Given the description of an element on the screen output the (x, y) to click on. 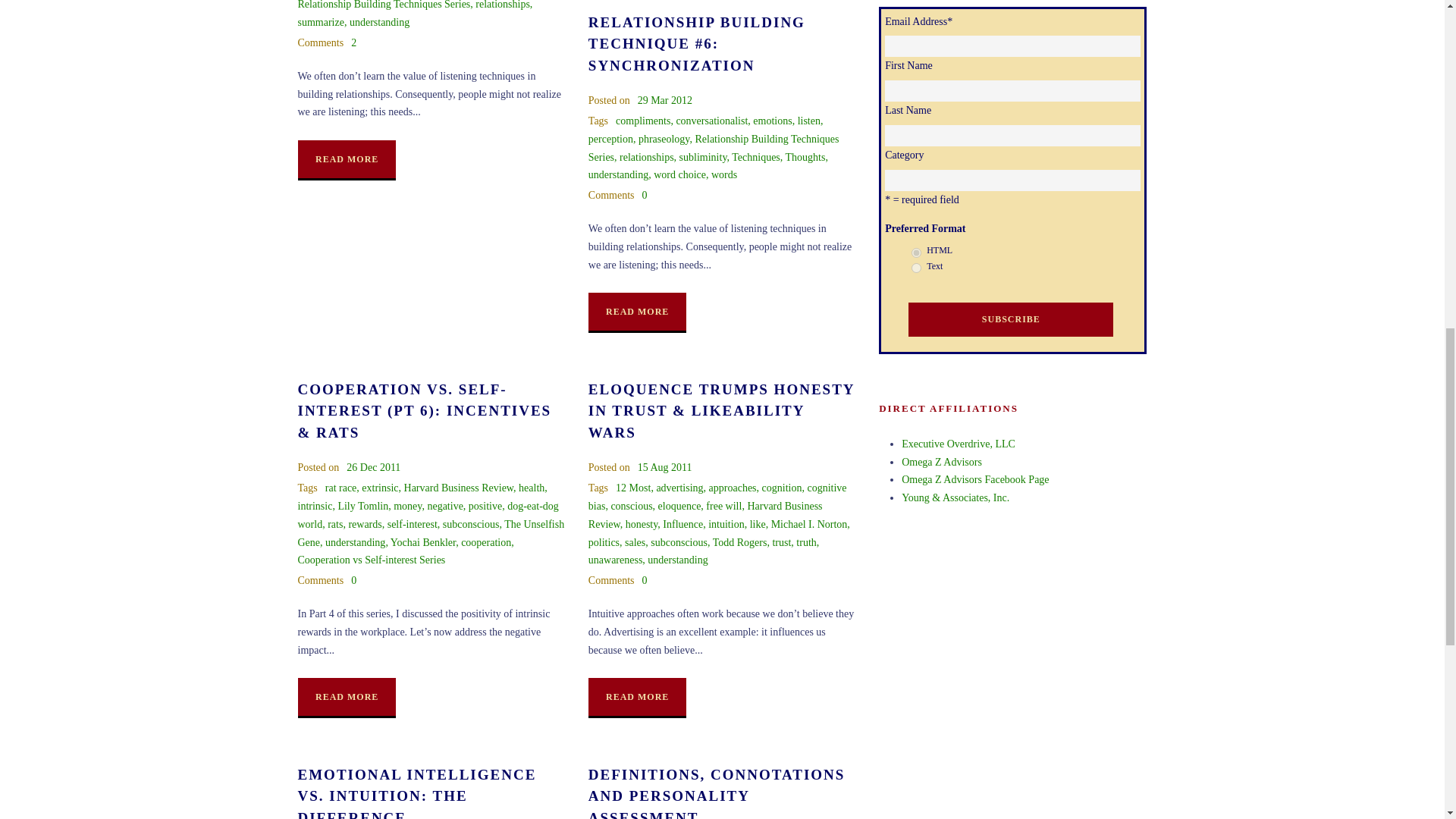
html (916, 252)
text (916, 267)
Subscribe (1010, 319)
